Given the description of an element on the screen output the (x, y) to click on. 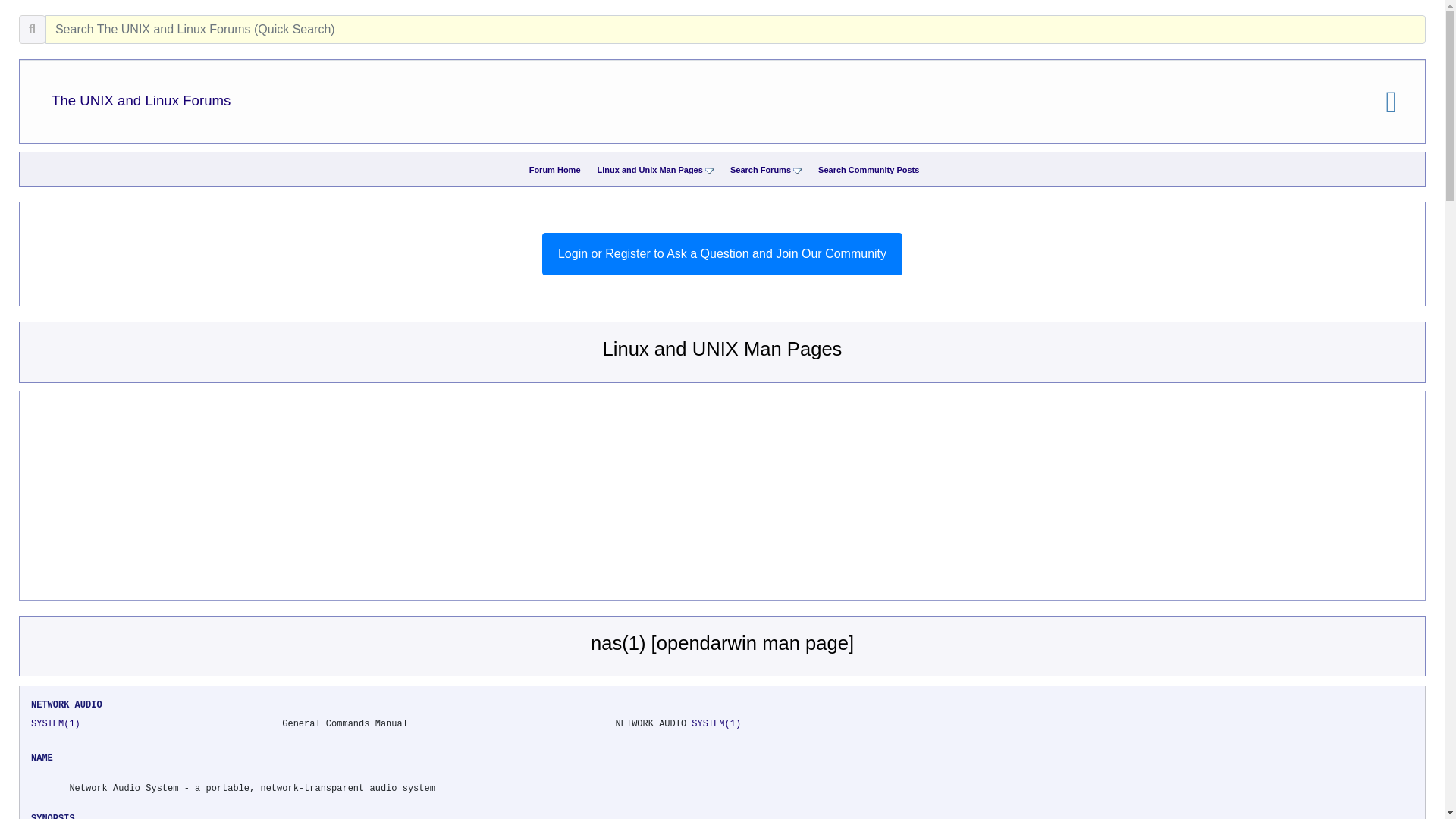
Search Community Posts (868, 169)
The UNIX and Linux Forums (140, 100)
Go to Forum Page (554, 169)
3rd party ad content (427, 497)
Login or Register to Ask a Question and Join Our Community (721, 253)
Search Forums (760, 169)
Forum Home (554, 169)
Linux and Unix Man Pages (649, 169)
